Given the description of an element on the screen output the (x, y) to click on. 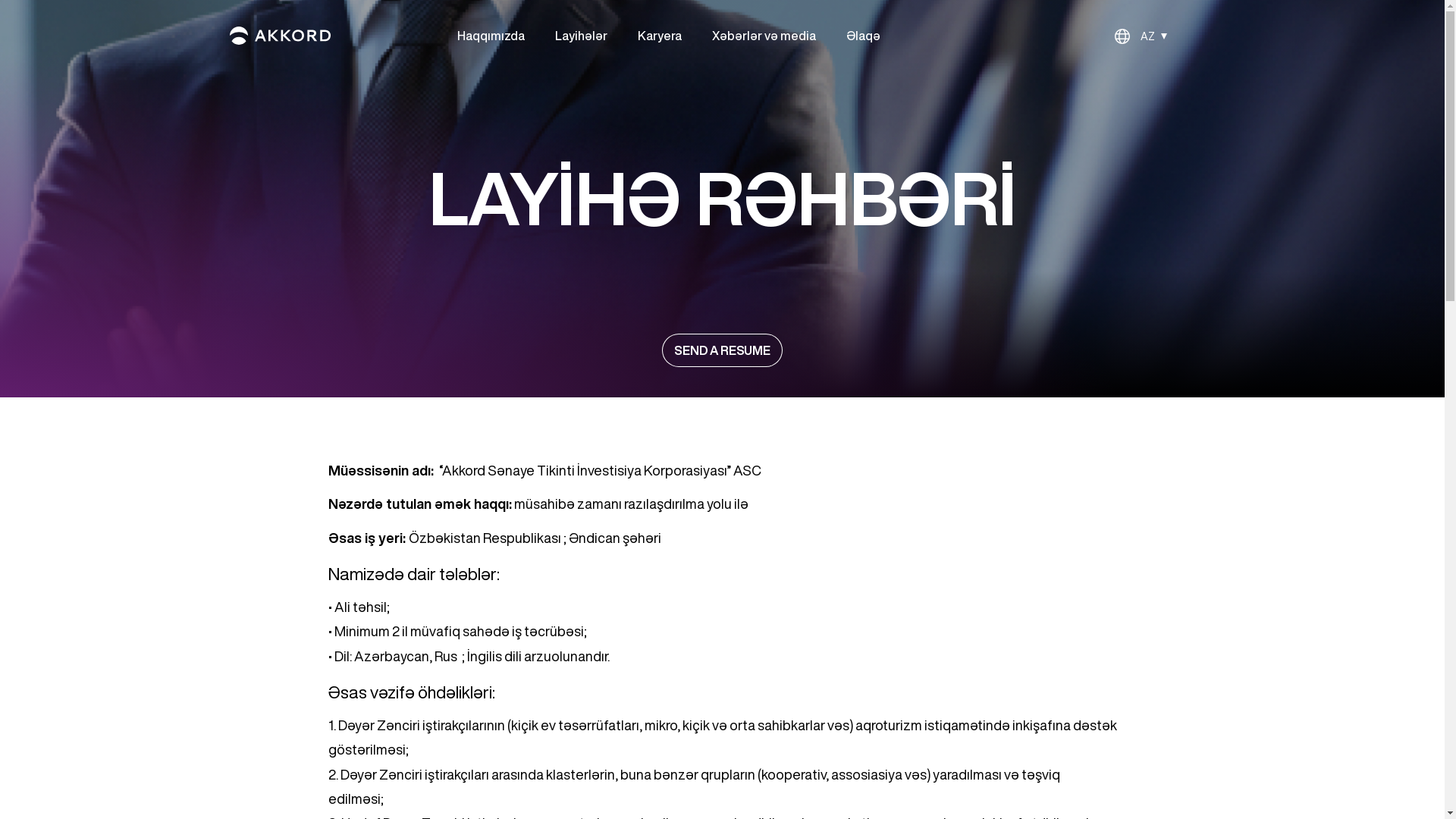
Karyera Element type: text (658, 35)
AZ Element type: text (1140, 36)
SEND A RESUME Element type: text (722, 350)
